Given the description of an element on the screen output the (x, y) to click on. 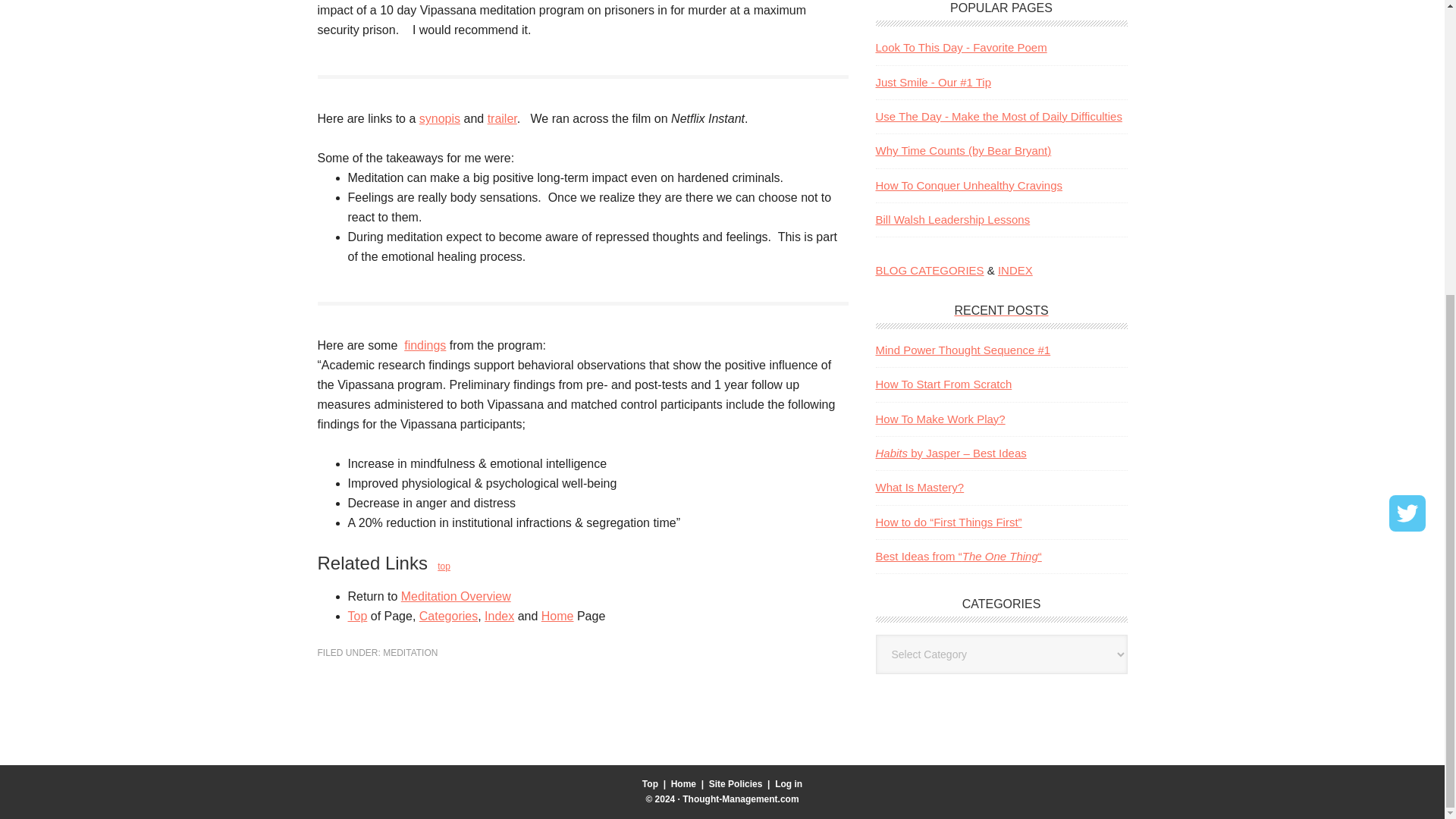
Movie trailer (501, 118)
Top (356, 615)
research findings (424, 345)
Index (498, 615)
View Our Twitter Feed (1407, 59)
Categories (448, 615)
synopis (439, 118)
Synopsis (439, 118)
hide (1426, 40)
Look To This Day - Favorite Poem (960, 47)
